Given the description of an element on the screen output the (x, y) to click on. 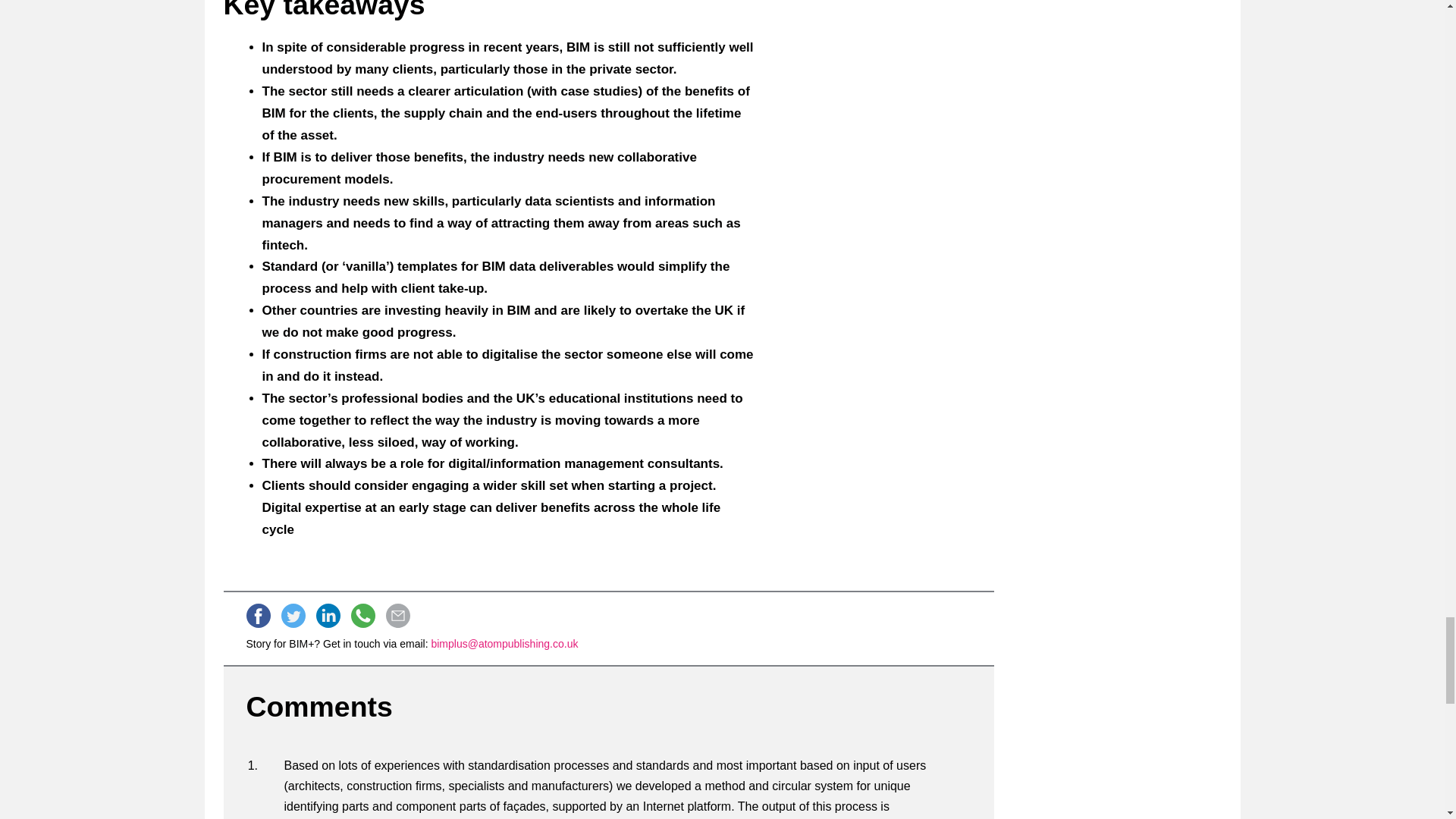
Send email (397, 615)
Share on Facebook (257, 615)
Tweet (292, 615)
Share on LinkedIn (327, 615)
Share on WhatsApp (362, 615)
